Given the description of an element on the screen output the (x, y) to click on. 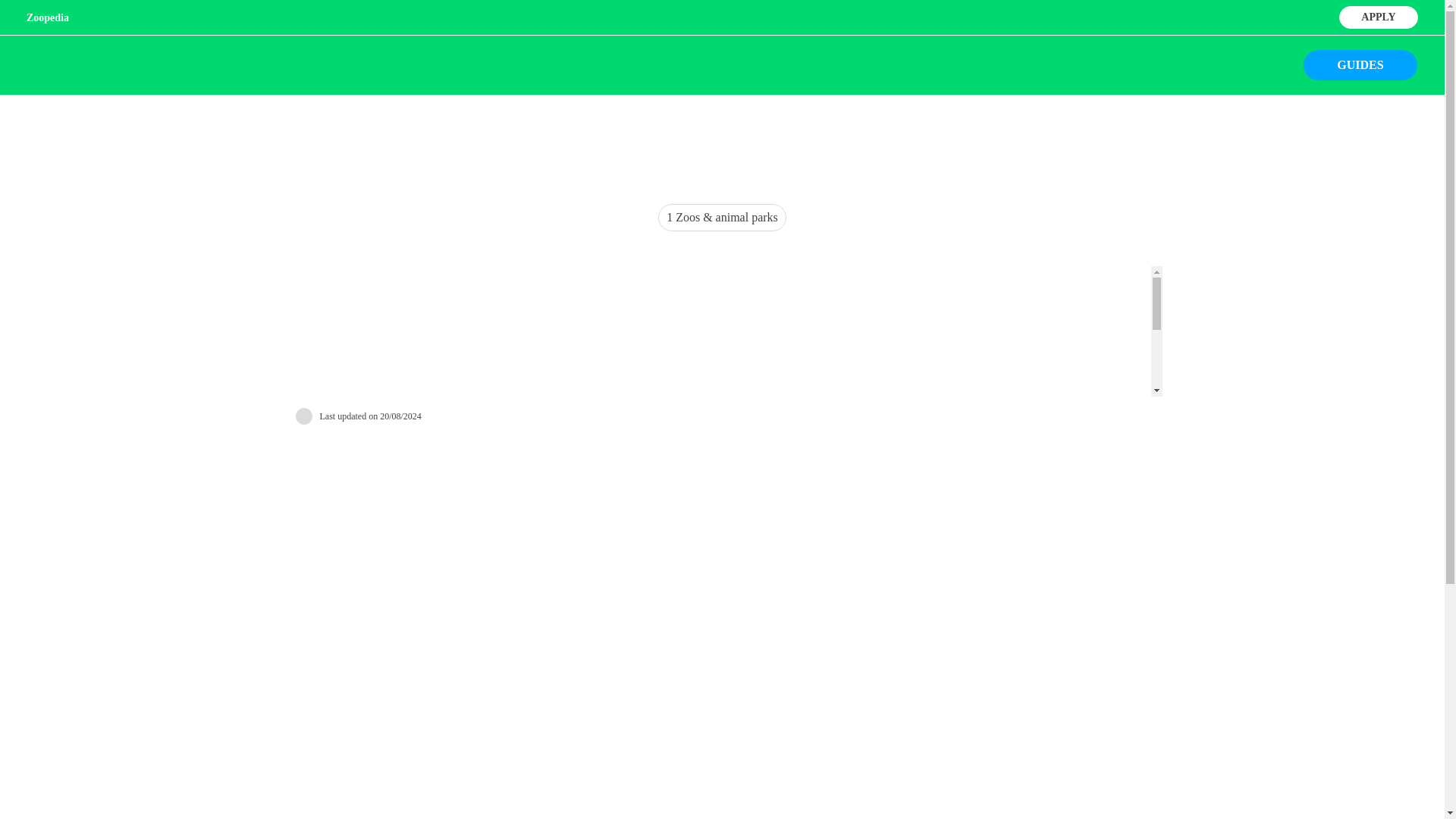
Zoopedia (47, 17)
APPLY (1377, 15)
GUIDES (1359, 64)
